Given the description of an element on the screen output the (x, y) to click on. 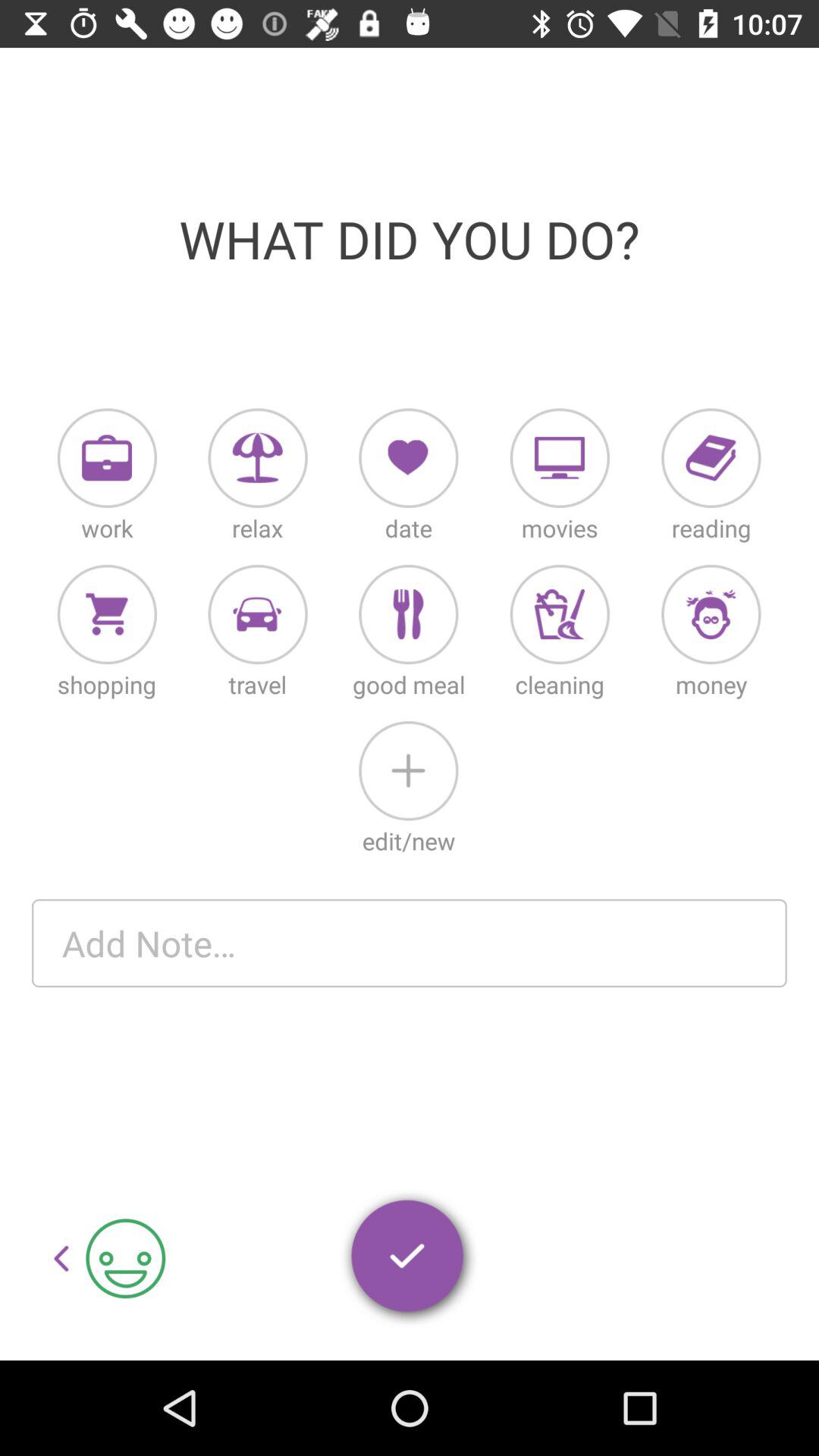
go to work (106, 457)
